Given the description of an element on the screen output the (x, y) to click on. 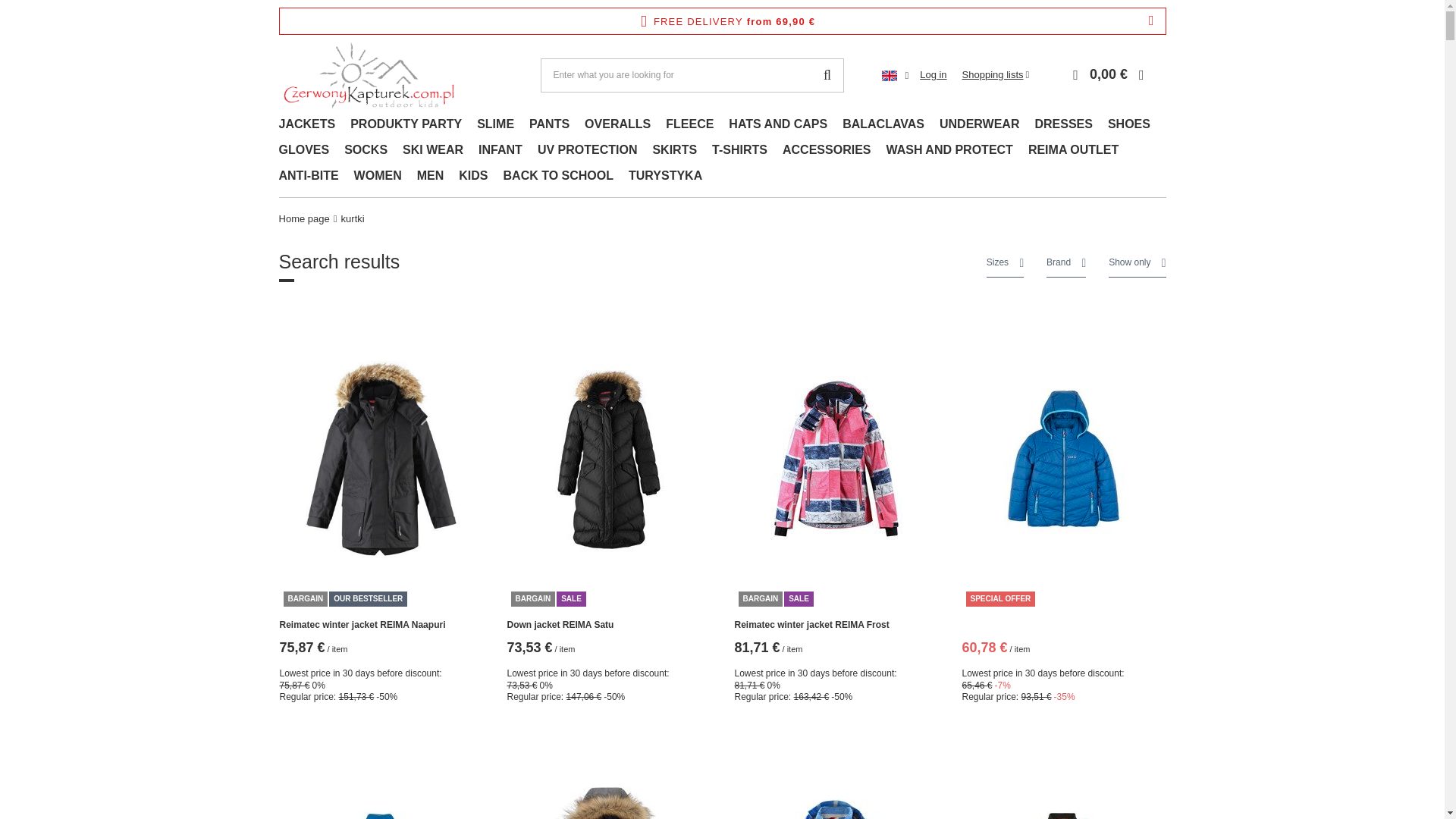
JACKETS (306, 125)
SLIME (494, 125)
PRODUKTY PARTY (405, 125)
